Given the description of an element on the screen output the (x, y) to click on. 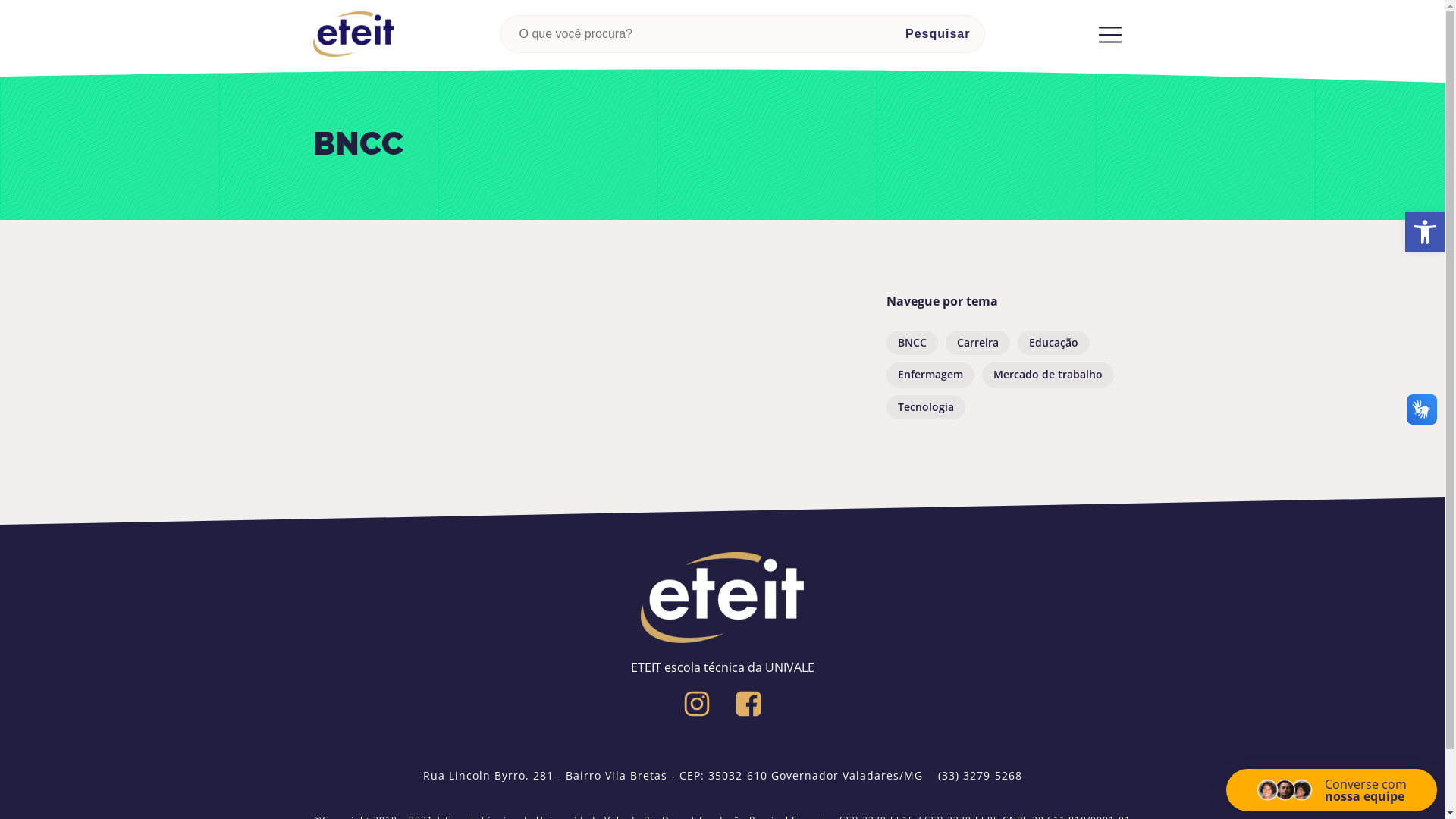
BNCC Element type: text (911, 342)
(33) 3279-5268 Element type: text (979, 775)
Enfermagem Element type: text (929, 374)
Barra de Ferramentas Aberta
Acessibilidade Element type: text (1424, 231)
Pesquisar Element type: text (937, 33)
Mercado de trabalho Element type: text (1047, 374)
Siga-nos no Instagram Element type: hover (696, 703)
Tecnologia Element type: text (924, 407)
Converse com
nossa equipe Element type: text (1331, 789)
Carreira Element type: text (976, 342)
